Given the description of an element on the screen output the (x, y) to click on. 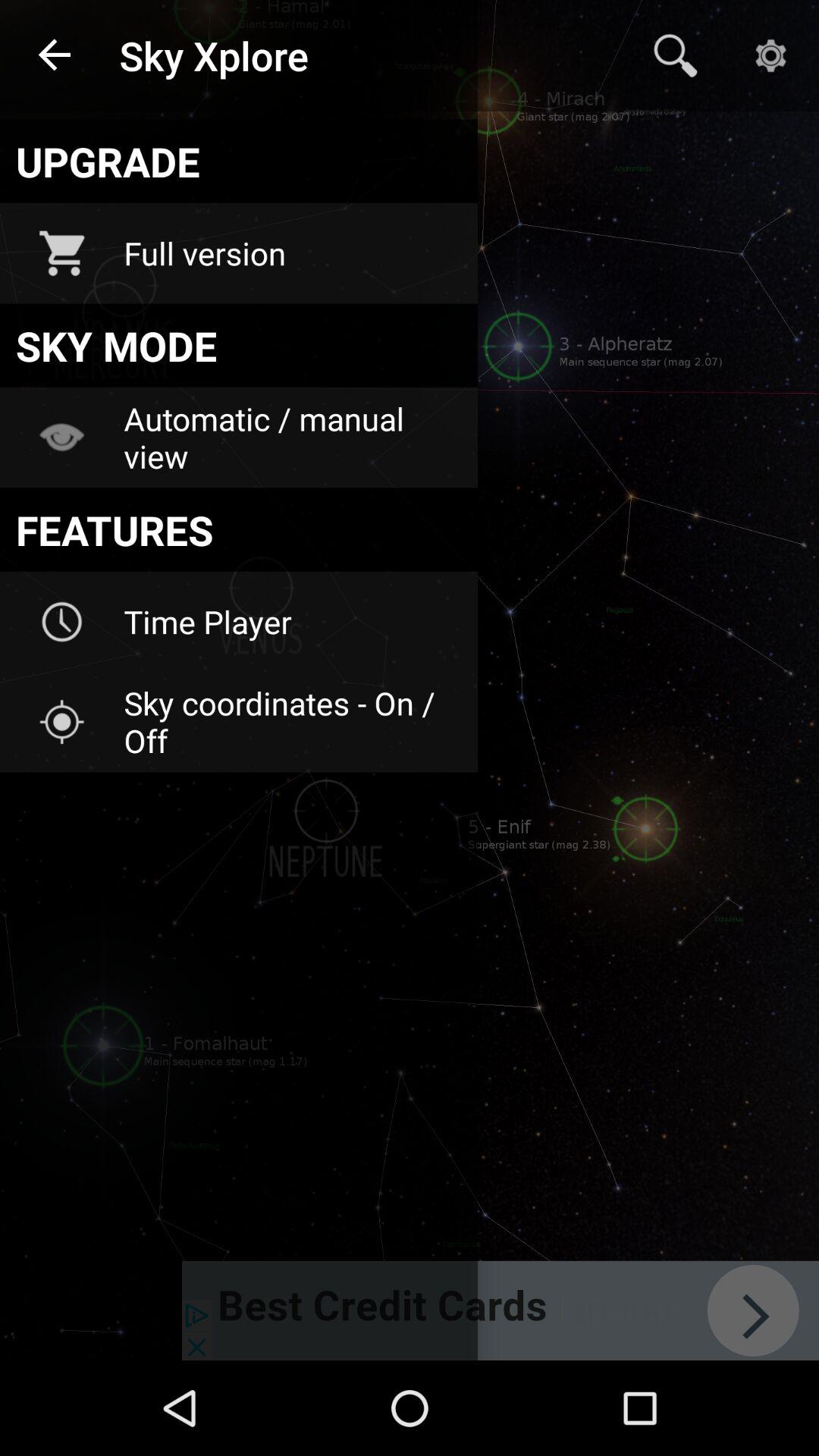
choose the icon to the right of the sky xplore icon (675, 55)
